Given the description of an element on the screen output the (x, y) to click on. 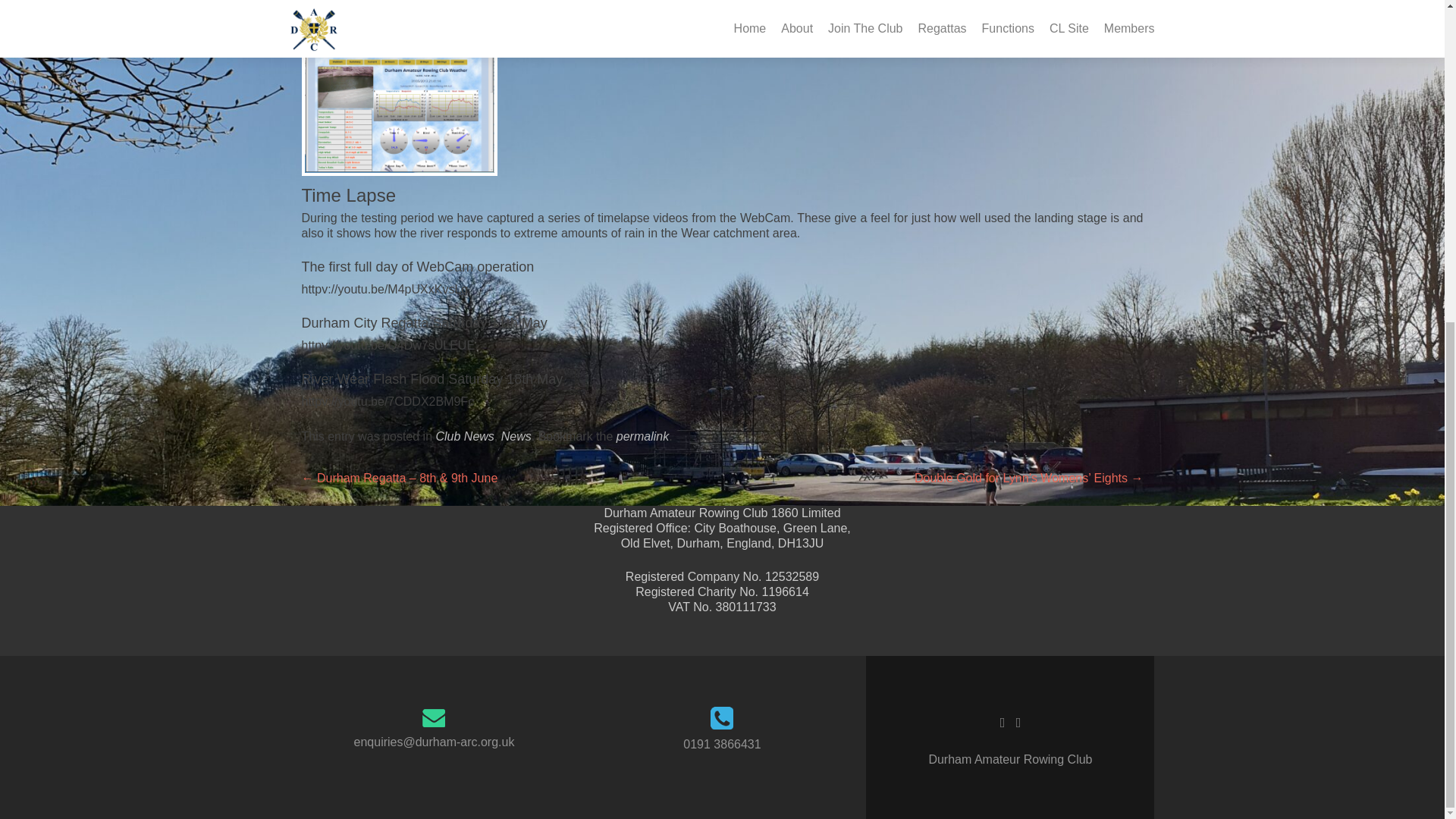
Instagram link (1019, 721)
Facebook link (1003, 721)
